Given the description of an element on the screen output the (x, y) to click on. 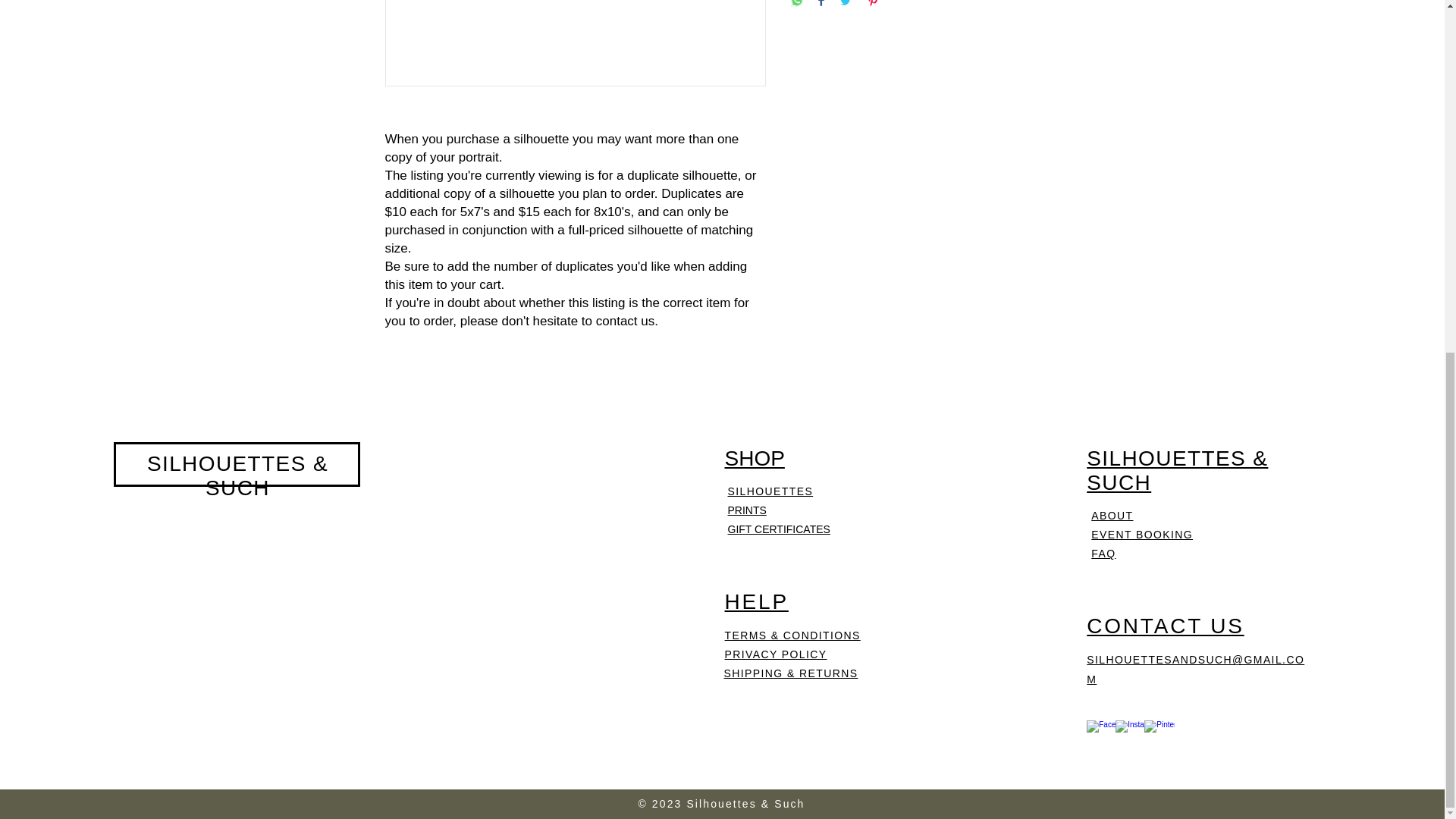
HELP (757, 601)
PRINTS (747, 510)
CONTACT US (1164, 626)
EVENT BOOKING (1141, 534)
GIFT CERTIFICATES (778, 529)
FAQ (1102, 553)
SILHOUETTES (770, 491)
SHOP (754, 458)
ABOUT (1111, 515)
